Given the description of an element on the screen output the (x, y) to click on. 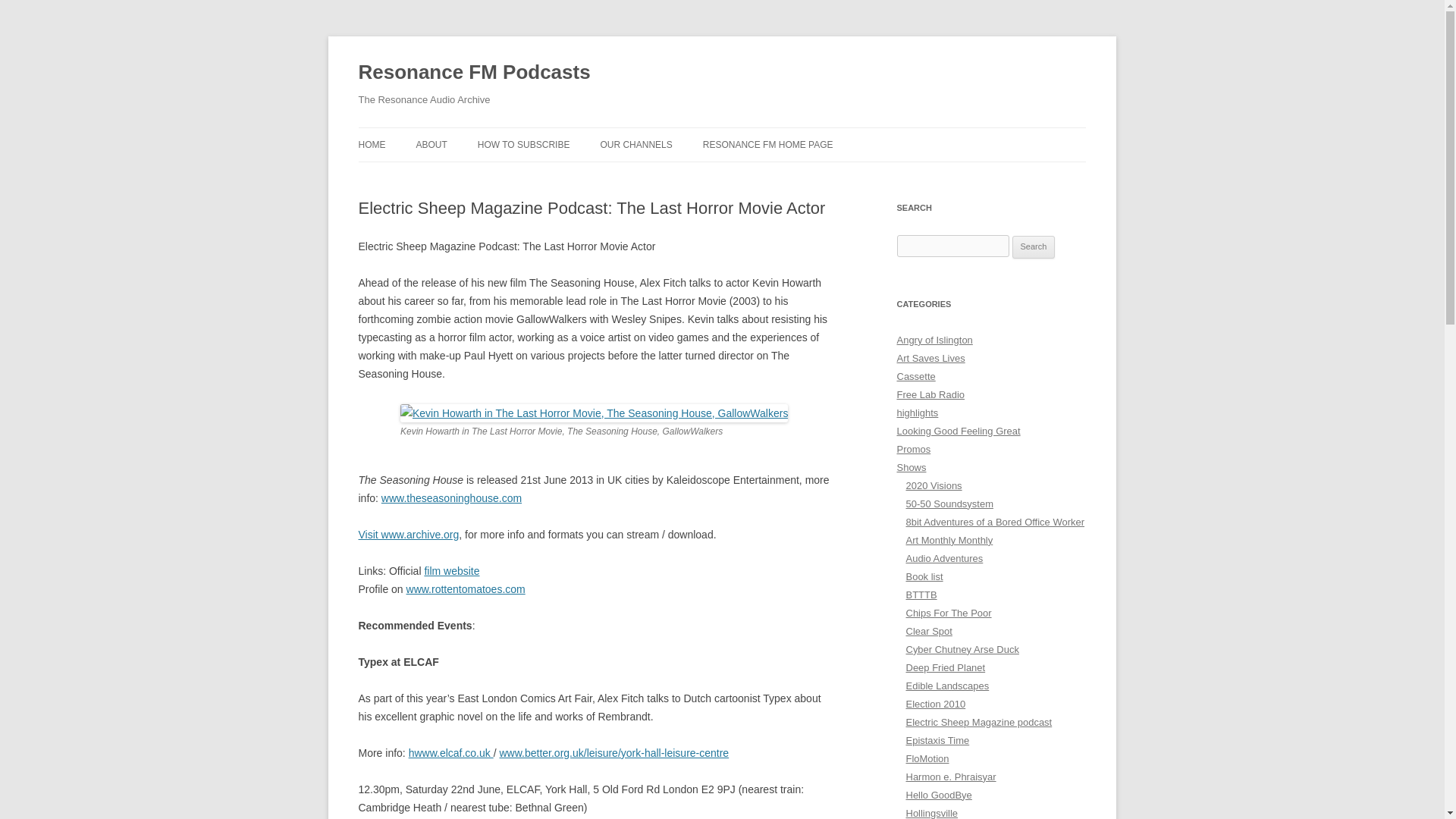
Regular broadcasts on Resonance FM (911, 467)
ABOUT (430, 144)
Visit www.archive.org (408, 534)
hwww.elcaf.co.uk (451, 752)
RESONANCE FM HOME PAGE (767, 144)
Search (1033, 246)
www.rottentomatoes.com (465, 589)
